Given the description of an element on the screen output the (x, y) to click on. 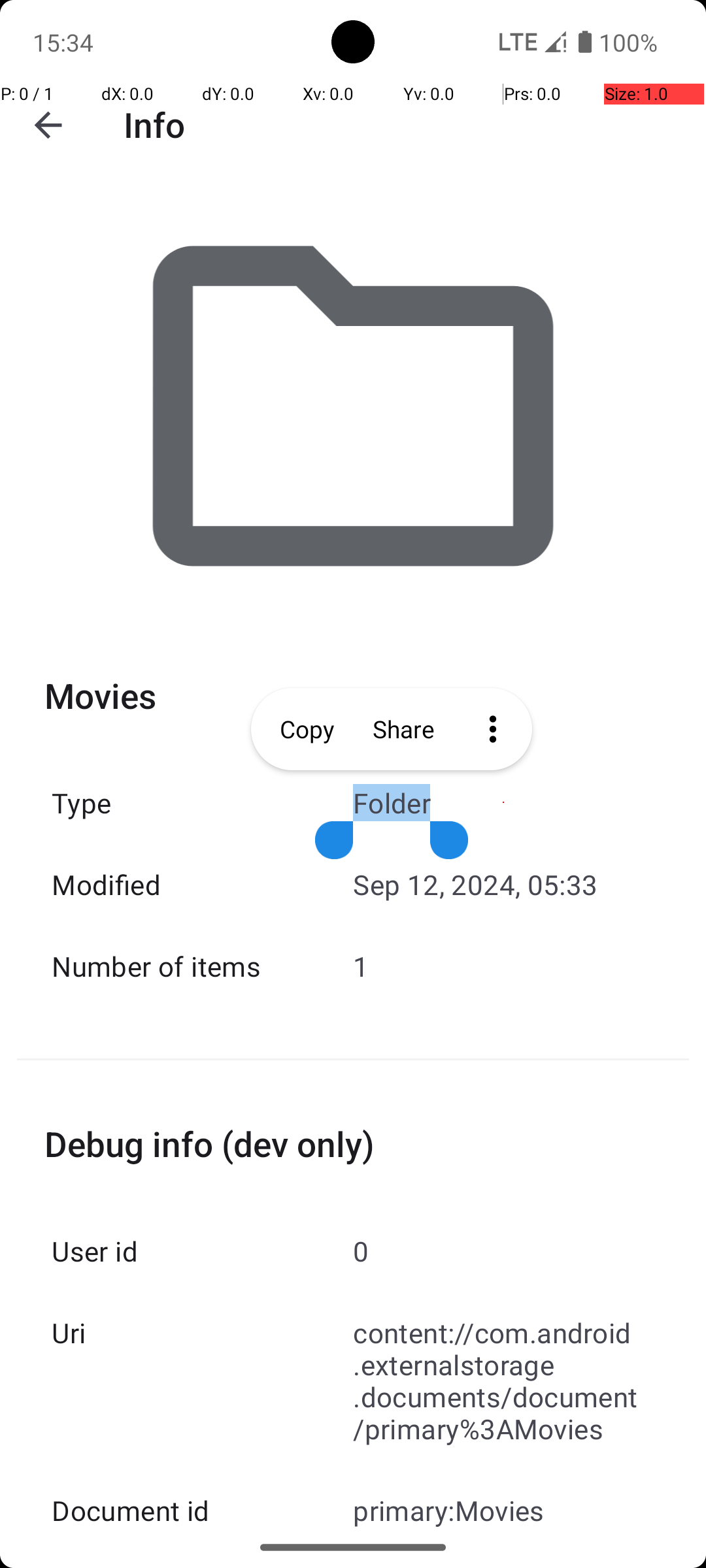
Info Element type: android.widget.TextView (153, 124)
Folder Element type: android.widget.TextView (503, 802)
Modified Element type: android.widget.TextView (202, 884)
Sep 12, 2024, 05:33 Element type: android.widget.TextView (503, 884)
Number of items Element type: android.widget.TextView (202, 965)
Debug info (dev only) Element type: android.widget.TextView (352, 1143)
User id Element type: android.widget.TextView (202, 1250)
Uri Element type: android.widget.TextView (202, 1332)
content://com.android.externalstorage.documents/document/primary%3AMovies Element type: android.widget.TextView (503, 1380)
Document id Element type: android.widget.TextView (202, 1510)
primary:Movies Element type: android.widget.TextView (503, 1510)
Raw mimetype Element type: android.widget.TextView (202, 1559)
vnd.android.document/directory Element type: android.widget.TextView (503, 1559)
Copy Element type: android.widget.LinearLayout (302, 728)
